Given the description of an element on the screen output the (x, y) to click on. 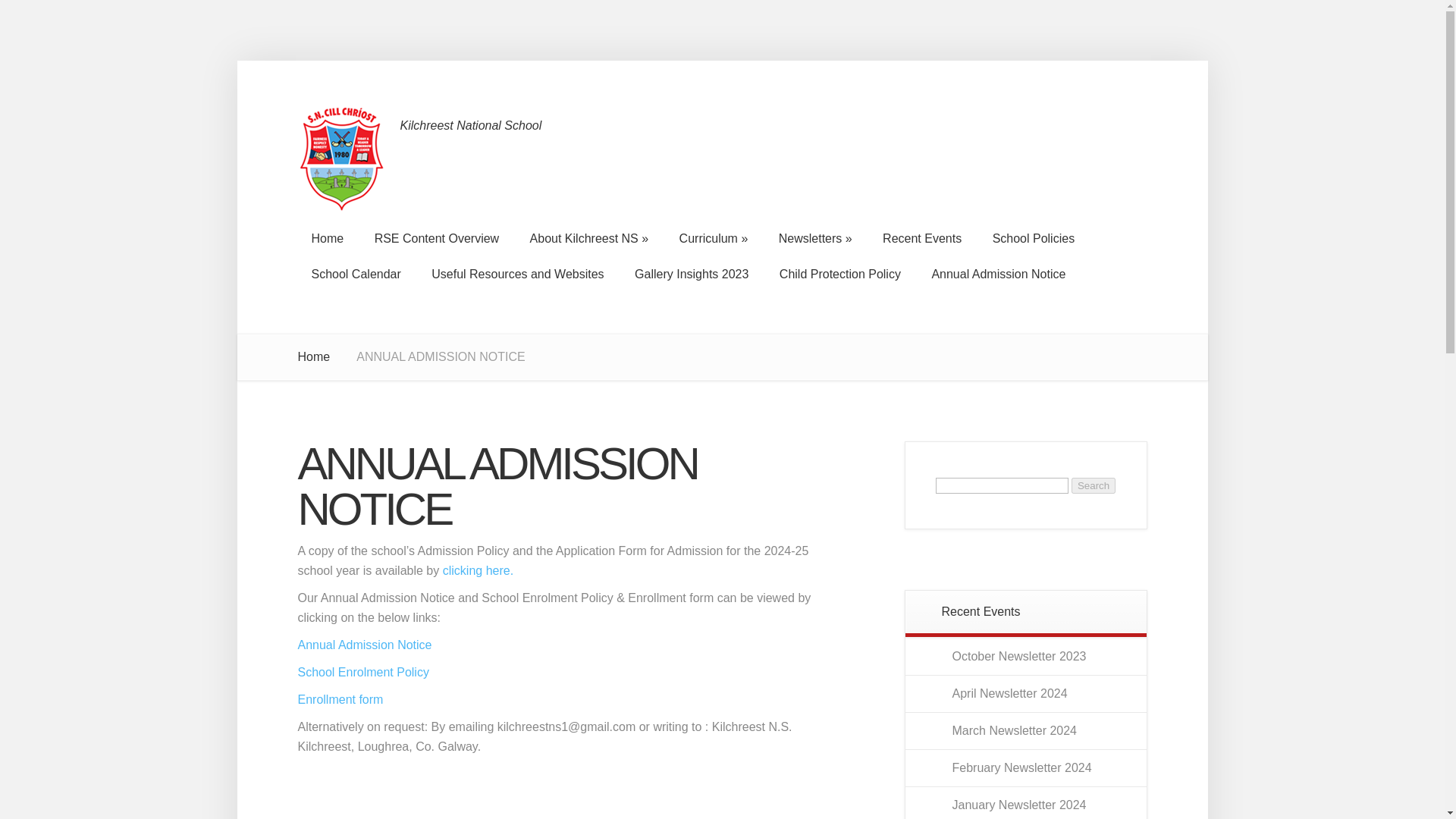
Child Protection Policy (839, 274)
Annual Admission Notice (997, 274)
School Policies (1033, 238)
Home (326, 238)
Useful Resources and Websites (517, 274)
RSE Content Overview (437, 238)
Recent Events (922, 238)
Gallery Insights 2023 (691, 274)
Search (1093, 485)
School Calendar (355, 274)
